Given the description of an element on the screen output the (x, y) to click on. 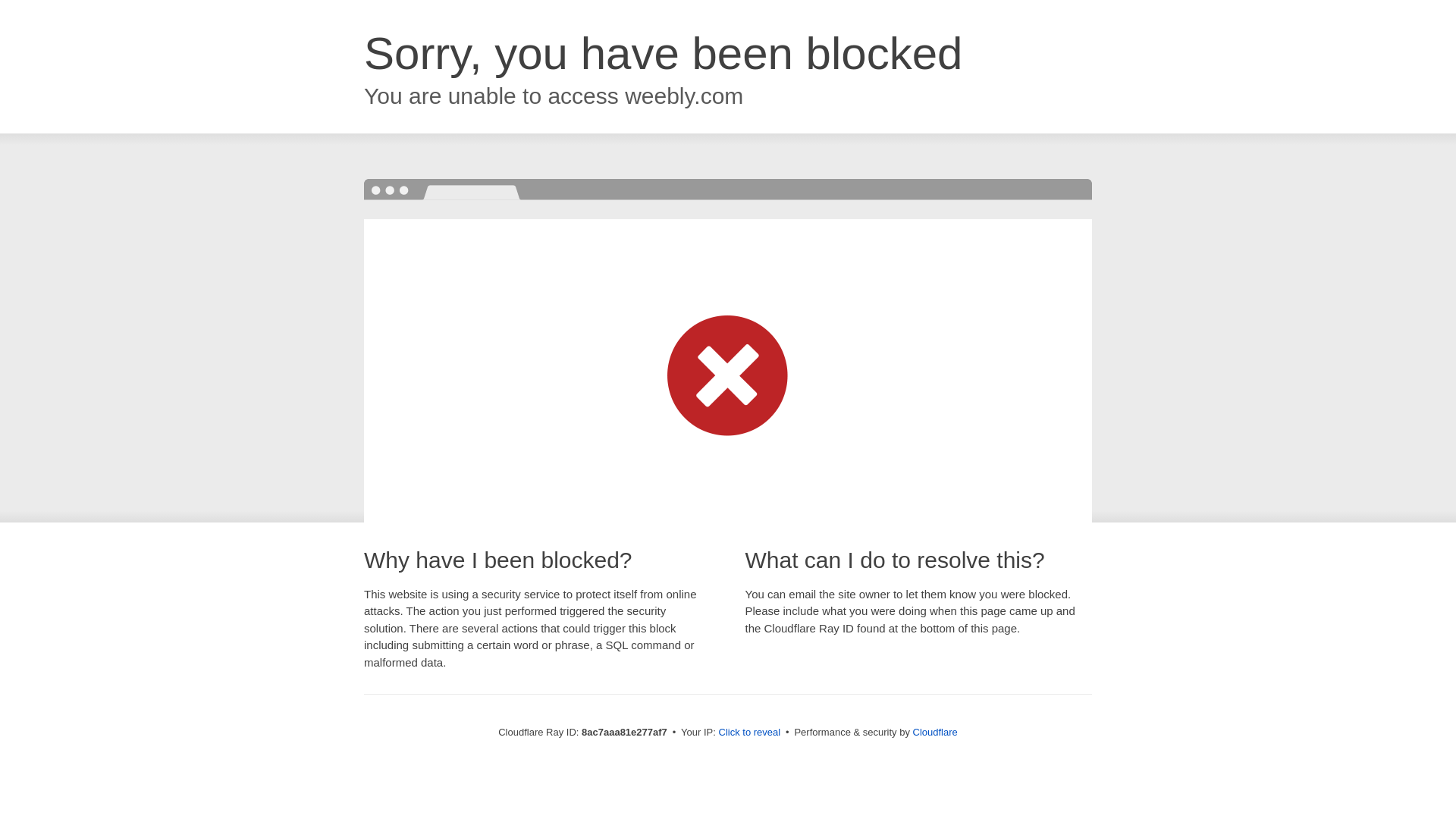
Cloudflare (935, 731)
Click to reveal (749, 732)
